Given the description of an element on the screen output the (x, y) to click on. 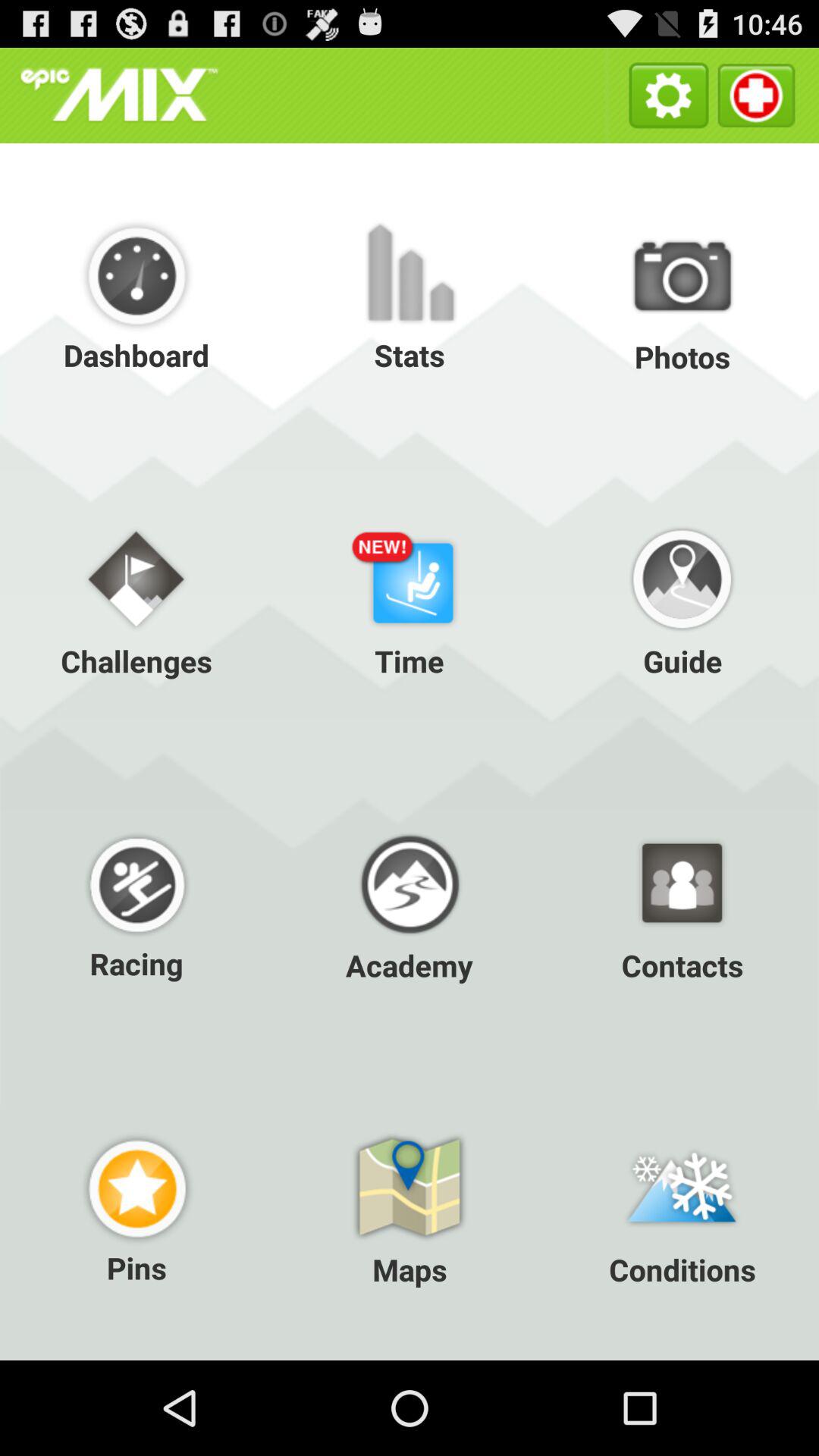
open button above maps icon (136, 903)
